Given the description of an element on the screen output the (x, y) to click on. 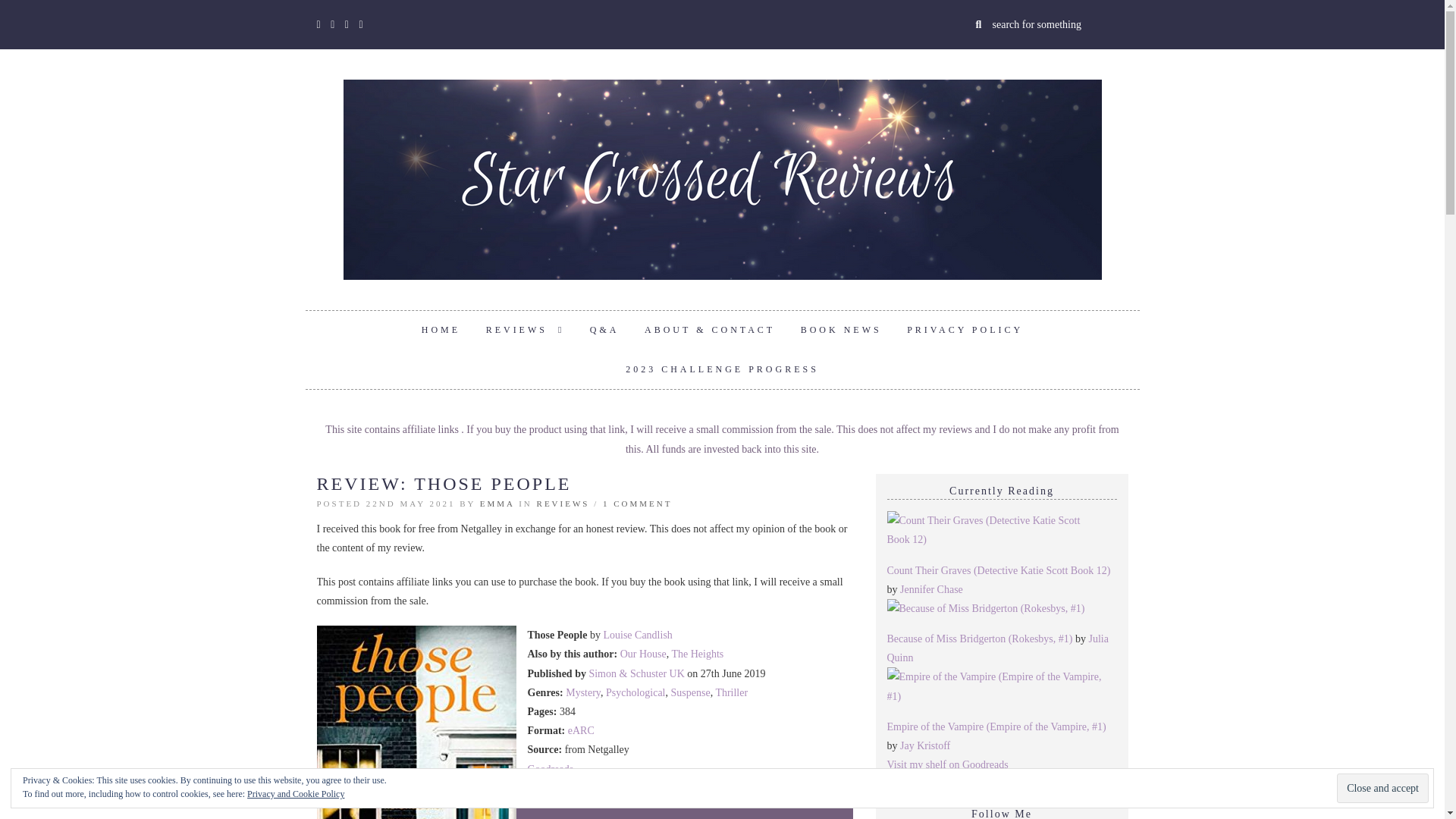
2023 CHALLENGE PROGRESS (721, 369)
Amazon Kindle (561, 787)
Louise Candlish (636, 634)
Our House (643, 654)
BOOK NEWS (841, 330)
HOME (440, 330)
1 COMMENT (636, 502)
REVIEWS   (525, 330)
View all posts in Reviews (563, 502)
Close and accept (1382, 788)
